Given the description of an element on the screen output the (x, y) to click on. 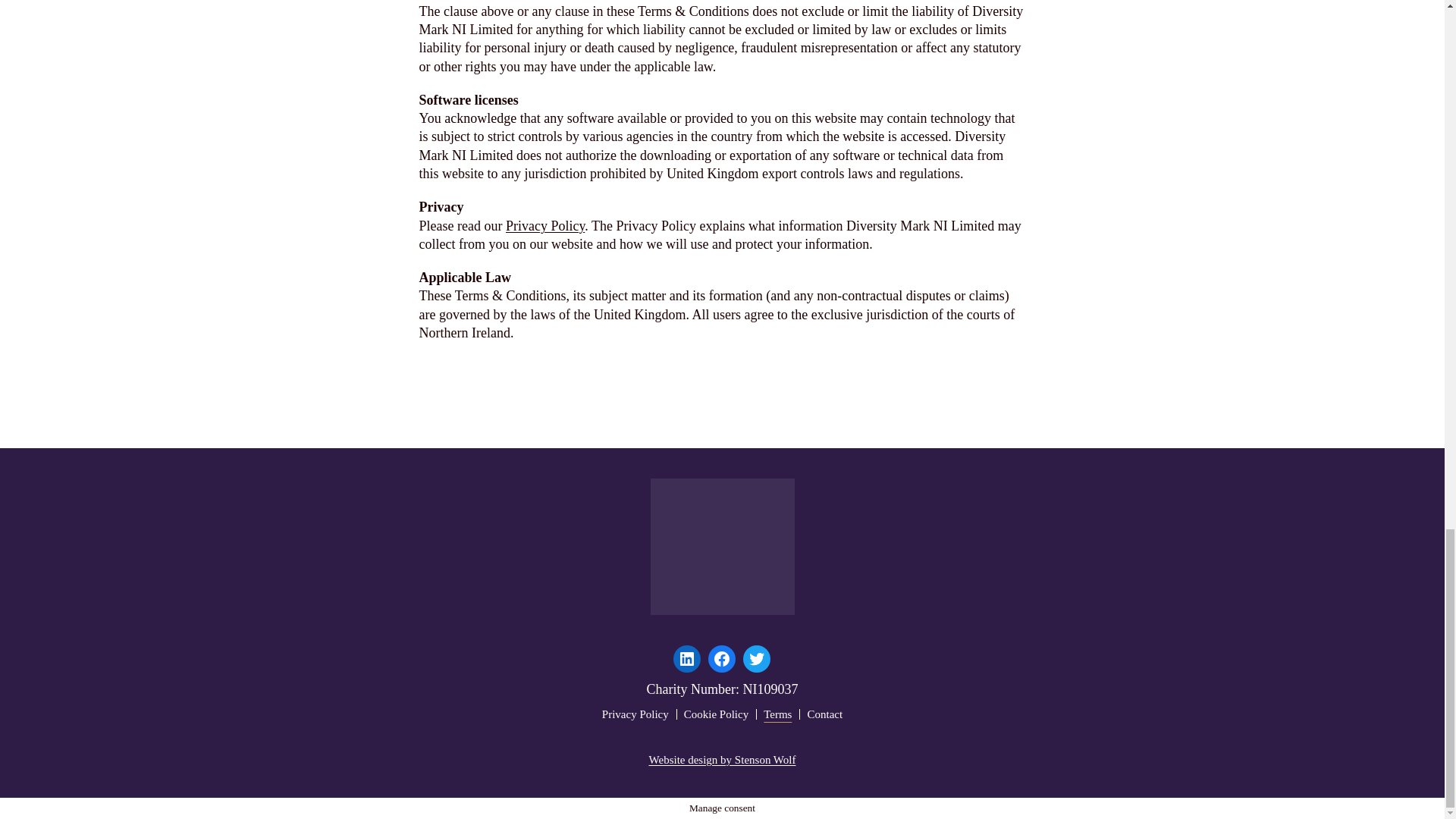
Twitter (756, 658)
Website design by Stenson Wolf (722, 759)
Facebook (721, 658)
Contact (824, 713)
Cookie Policy (716, 713)
Terms (777, 713)
LinkedIn (686, 658)
Privacy Policy (545, 225)
Privacy Policy (635, 713)
